Given the description of an element on the screen output the (x, y) to click on. 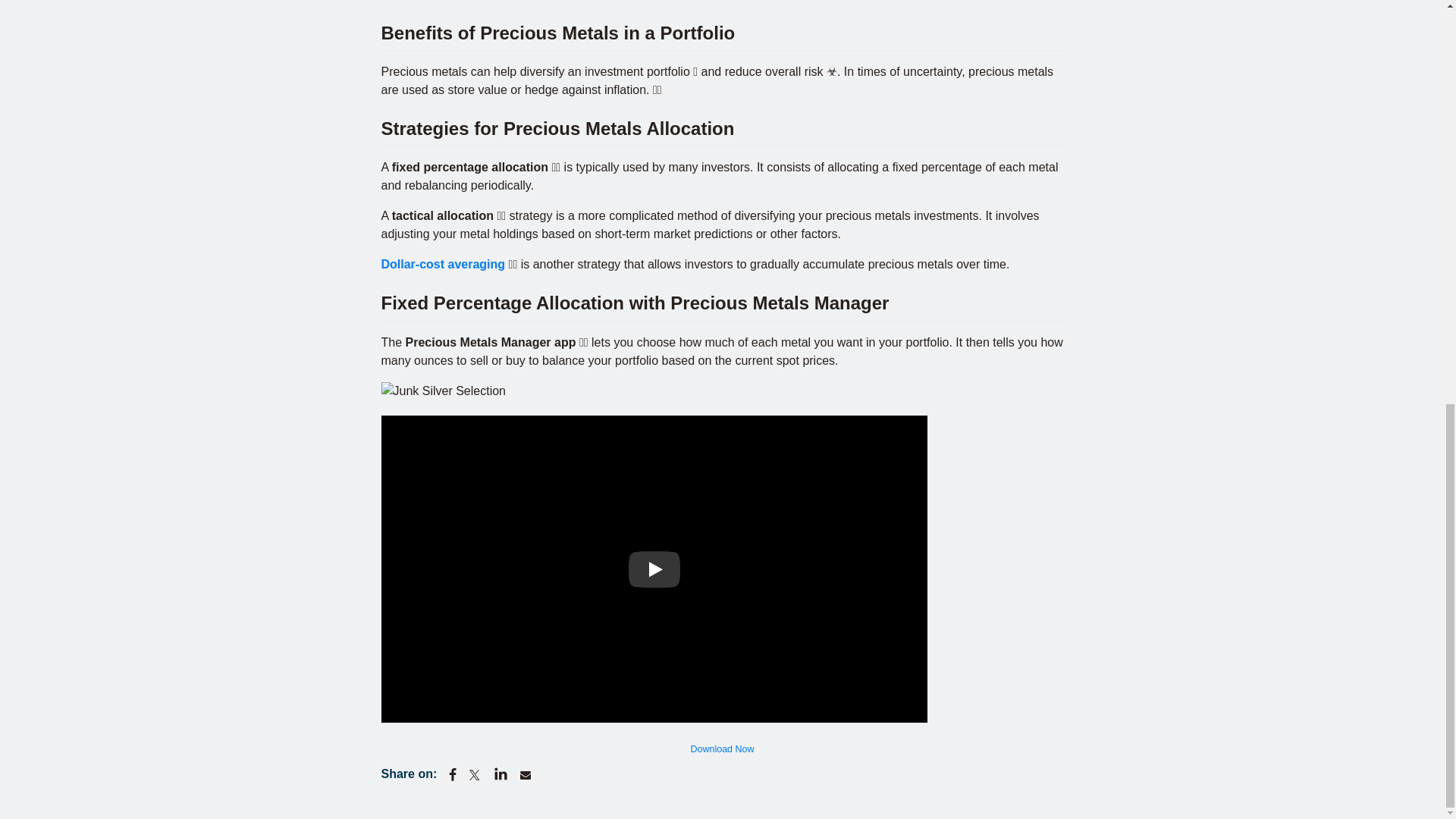
Share this on Facebook (452, 774)
Dollar-cost averaging (442, 264)
Download Now (721, 749)
Share this on TwitterX (476, 774)
Share this through Email (525, 774)
